Given the description of an element on the screen output the (x, y) to click on. 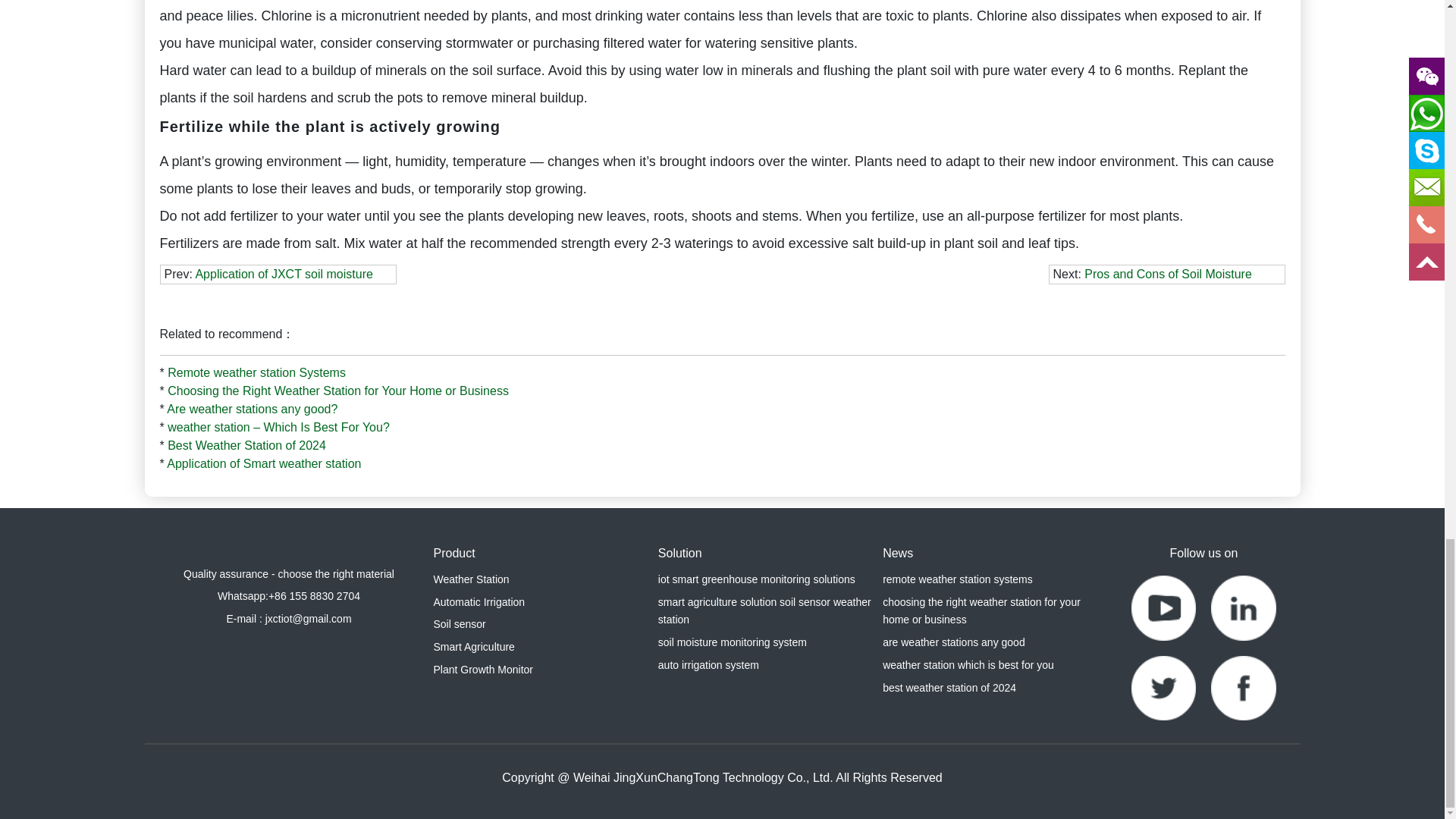
Application of Smart weather station (264, 463)
Choosing the Right Weather Station for Your Home or Business (337, 390)
Are weather stations any good? (252, 408)
Best Weather Station of 2024 (246, 445)
Remote weather station Systems (256, 372)
